Given the description of an element on the screen output the (x, y) to click on. 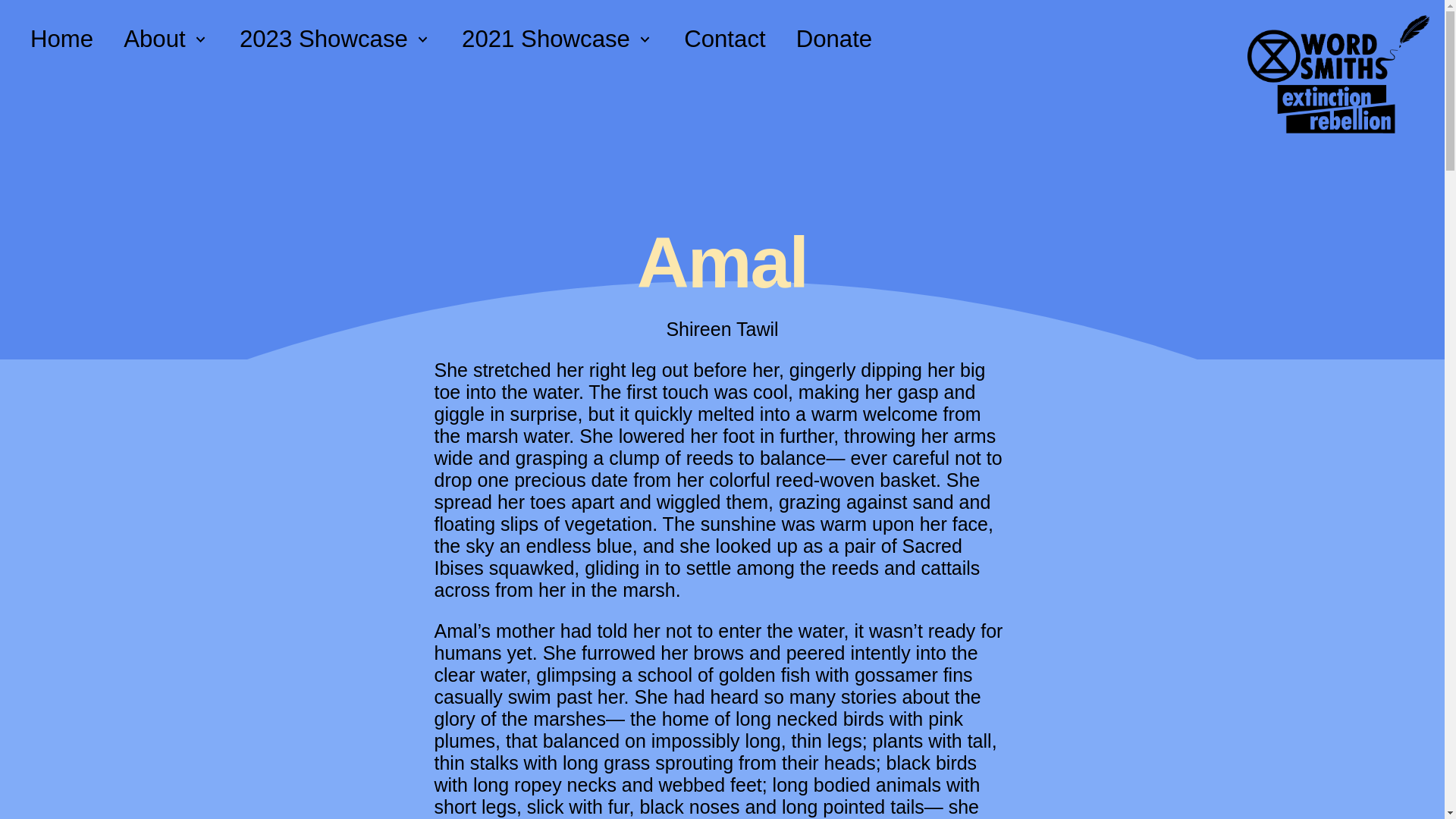
About (165, 39)
2021 Showcase (557, 39)
2023 Showcase (335, 39)
Home (60, 39)
Donate (834, 39)
Contact (724, 39)
